Given the description of an element on the screen output the (x, y) to click on. 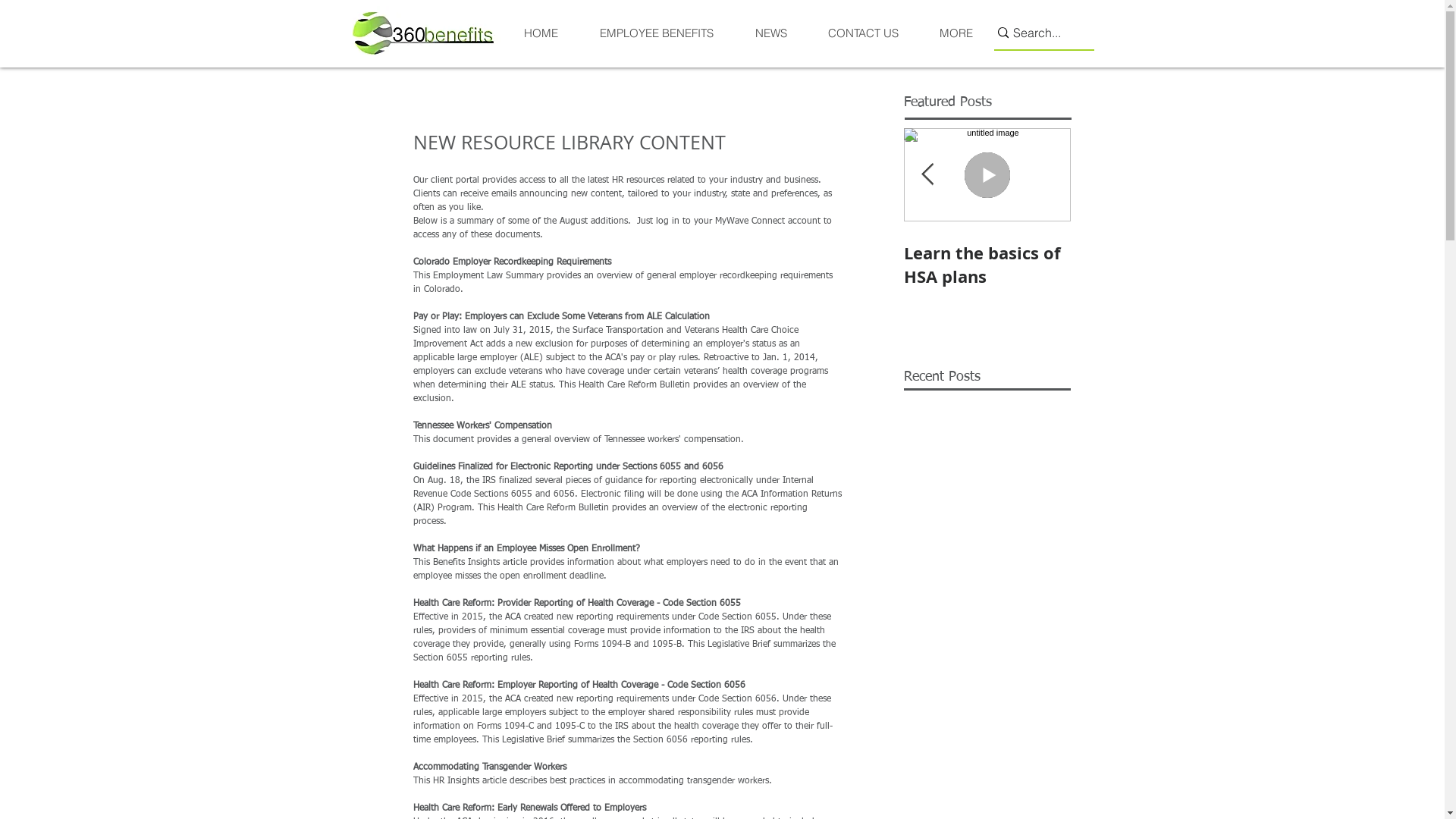
Pricing Transparency Element type: text (820, 264)
NEWS Element type: text (770, 33)
EMPLOYEE BENEFITS Element type: text (655, 33)
HOME Element type: text (540, 33)
CONTACT US Element type: text (862, 33)
Learn the basics of HSA plans Element type: text (986, 264)
Open Enrollment Management Element type: text (653, 264)
